Given the description of an element on the screen output the (x, y) to click on. 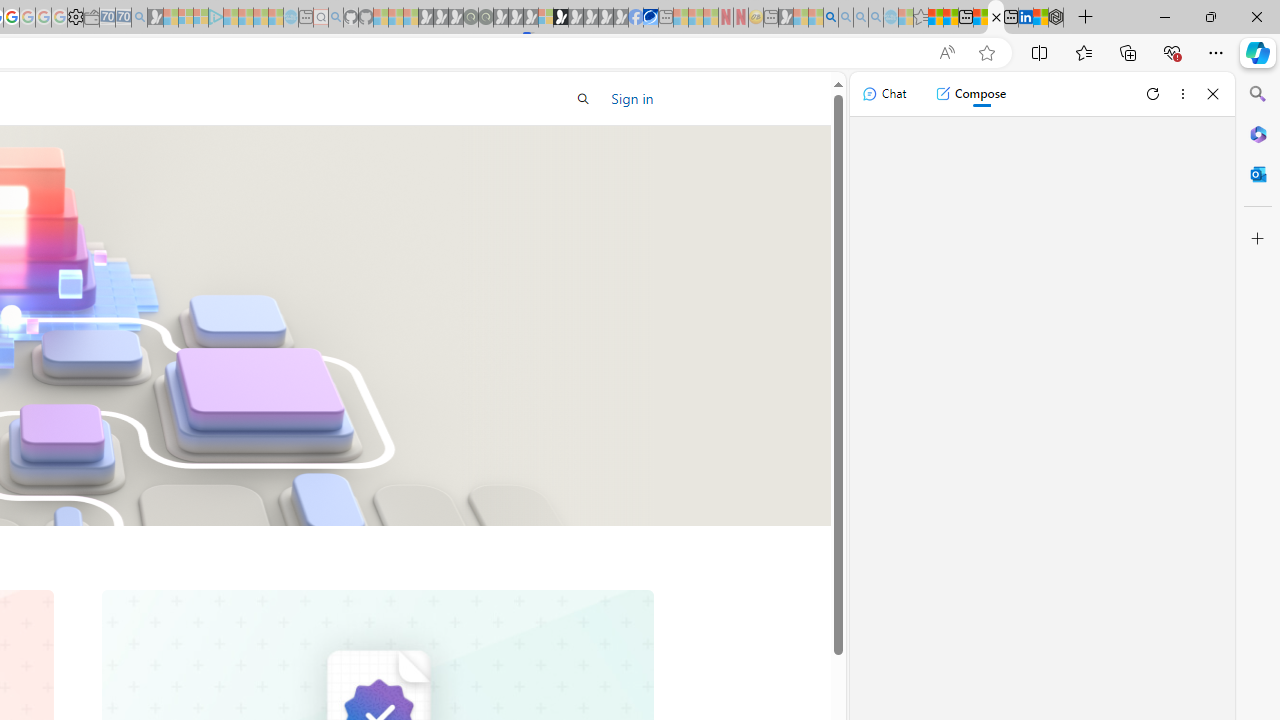
Bing AI - Search (831, 17)
Nordace | Facebook - Sleeping (635, 17)
